Given the description of an element on the screen output the (x, y) to click on. 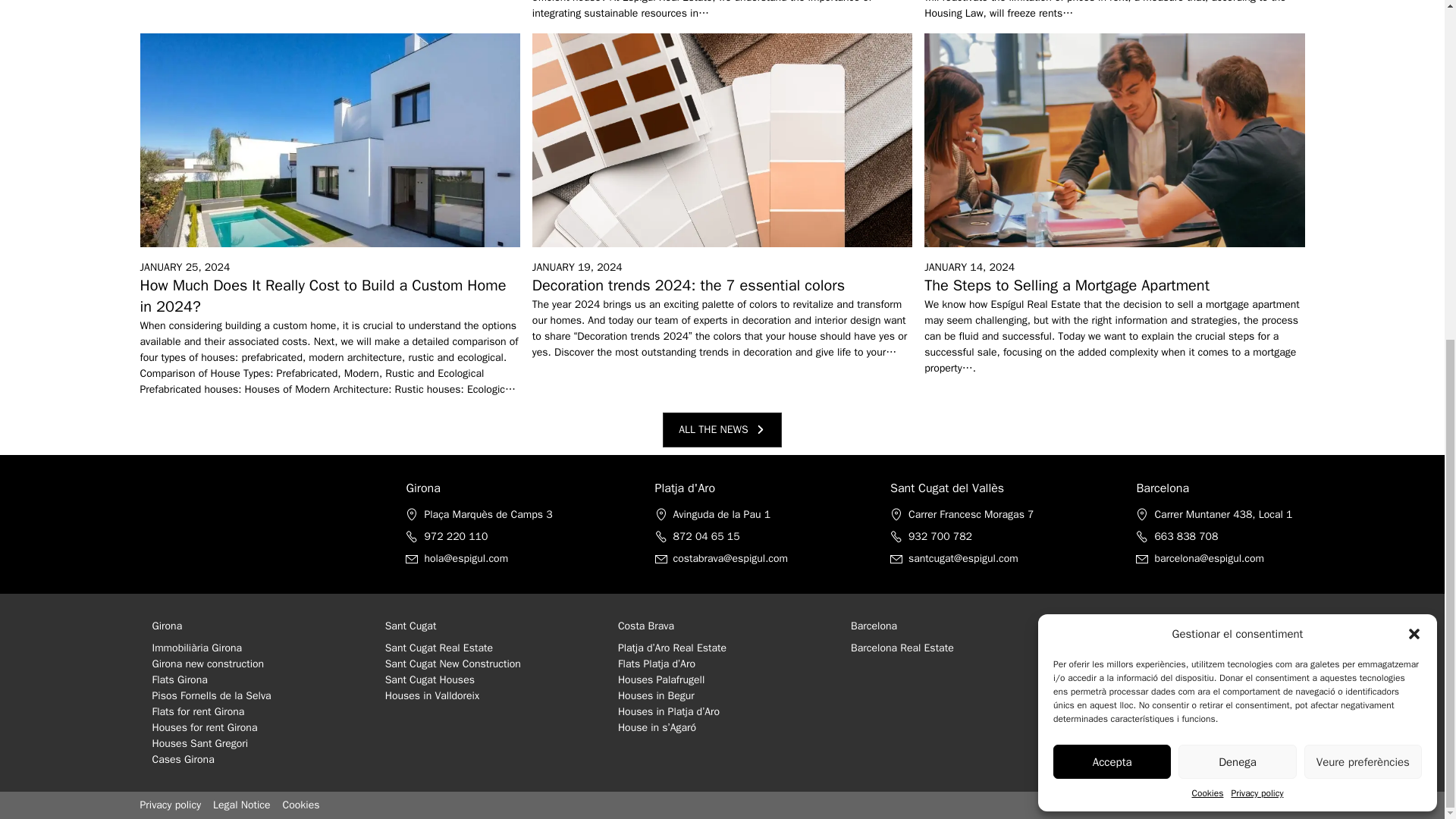
Accepta (1111, 185)
Privacy policy (1256, 217)
ALL THE NEWS (722, 429)
Denega (1236, 185)
Cookies (1208, 217)
The Steps to Selling a Mortgage Apartment (1066, 285)
How Much Does It Really Cost to Build a Custom Home in 2024? (322, 296)
The Steps to Selling a Mortgage Apartment (1066, 285)
How Much Does It Really Cost to Build a Custom Home in 2024? (322, 296)
Decoration trends 2024: the 7 essential colors (688, 285)
Decoration trends 2024: the 7 essential colors (688, 285)
